Given the description of an element on the screen output the (x, y) to click on. 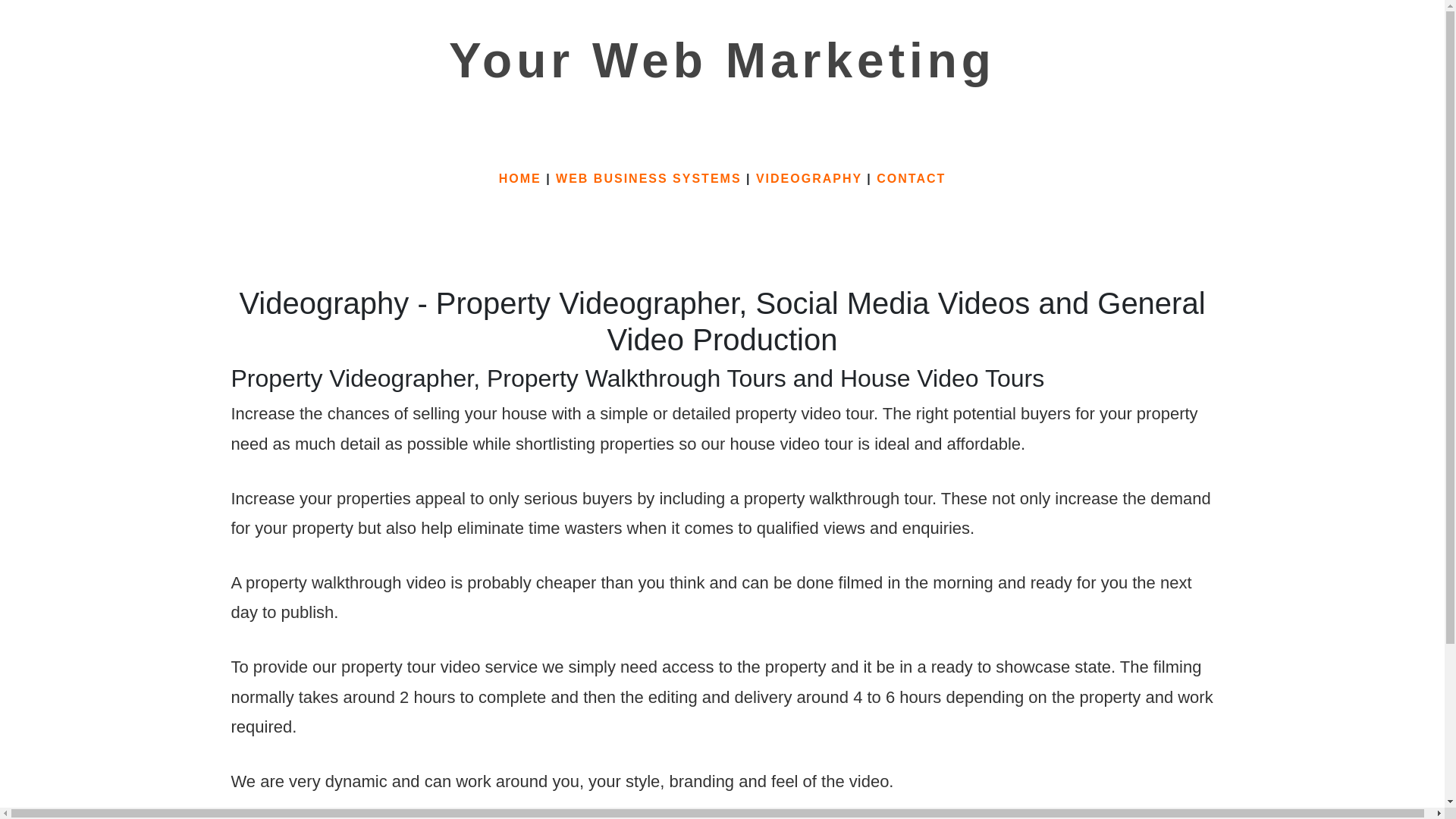
WEB BUSINESS SYSTEMS (648, 178)
VIDEOGRAPHY (808, 178)
HOME (520, 178)
CONTACT (910, 178)
